Given the description of an element on the screen output the (x, y) to click on. 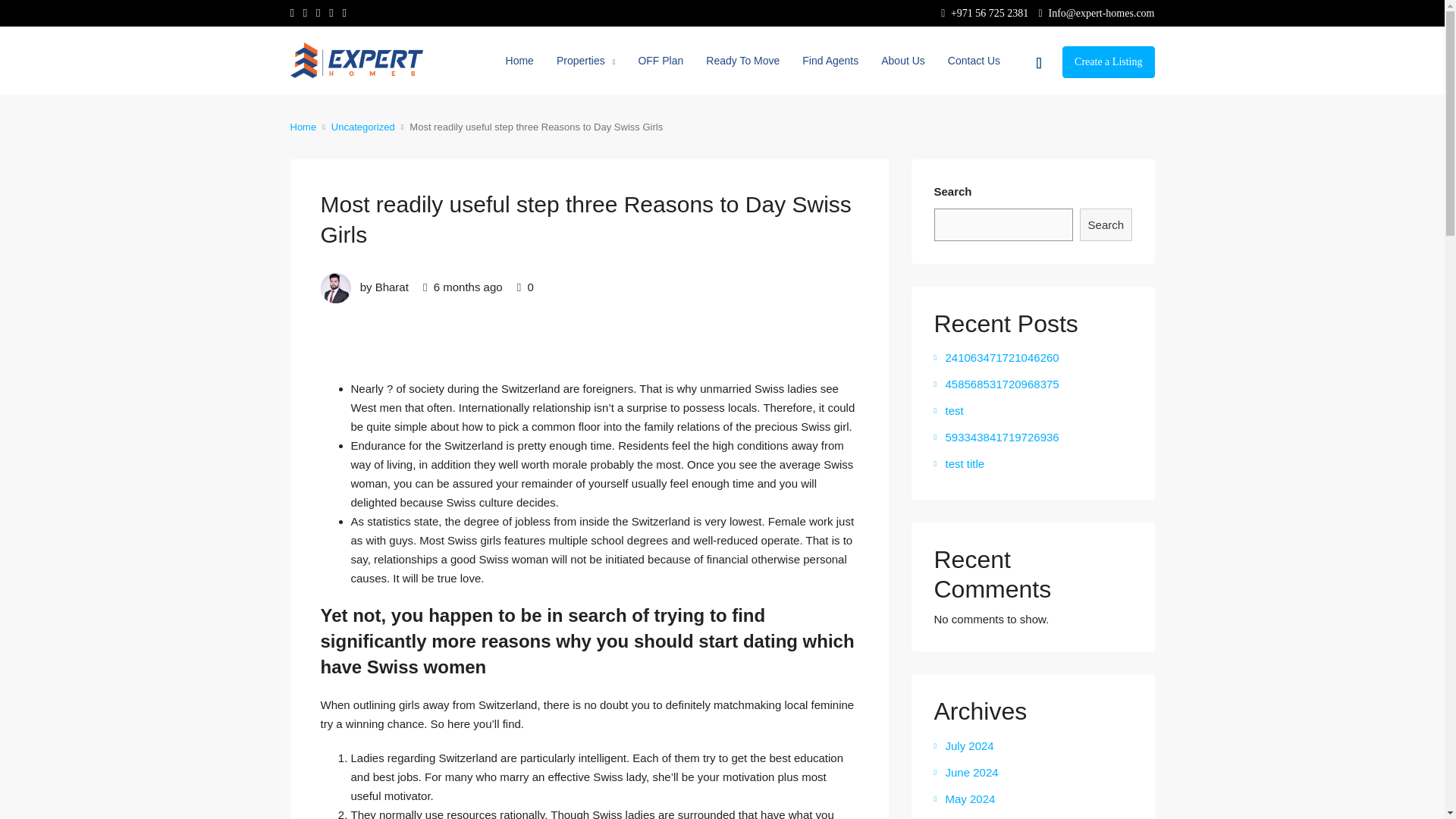
Contact Us (973, 60)
Find Agents (829, 60)
Ready To Move (742, 60)
Uncategorized (362, 126)
Create a Listing (1108, 61)
Properties (585, 61)
About Us (902, 60)
OFF Plan (660, 60)
Home (302, 126)
